Given the description of an element on the screen output the (x, y) to click on. 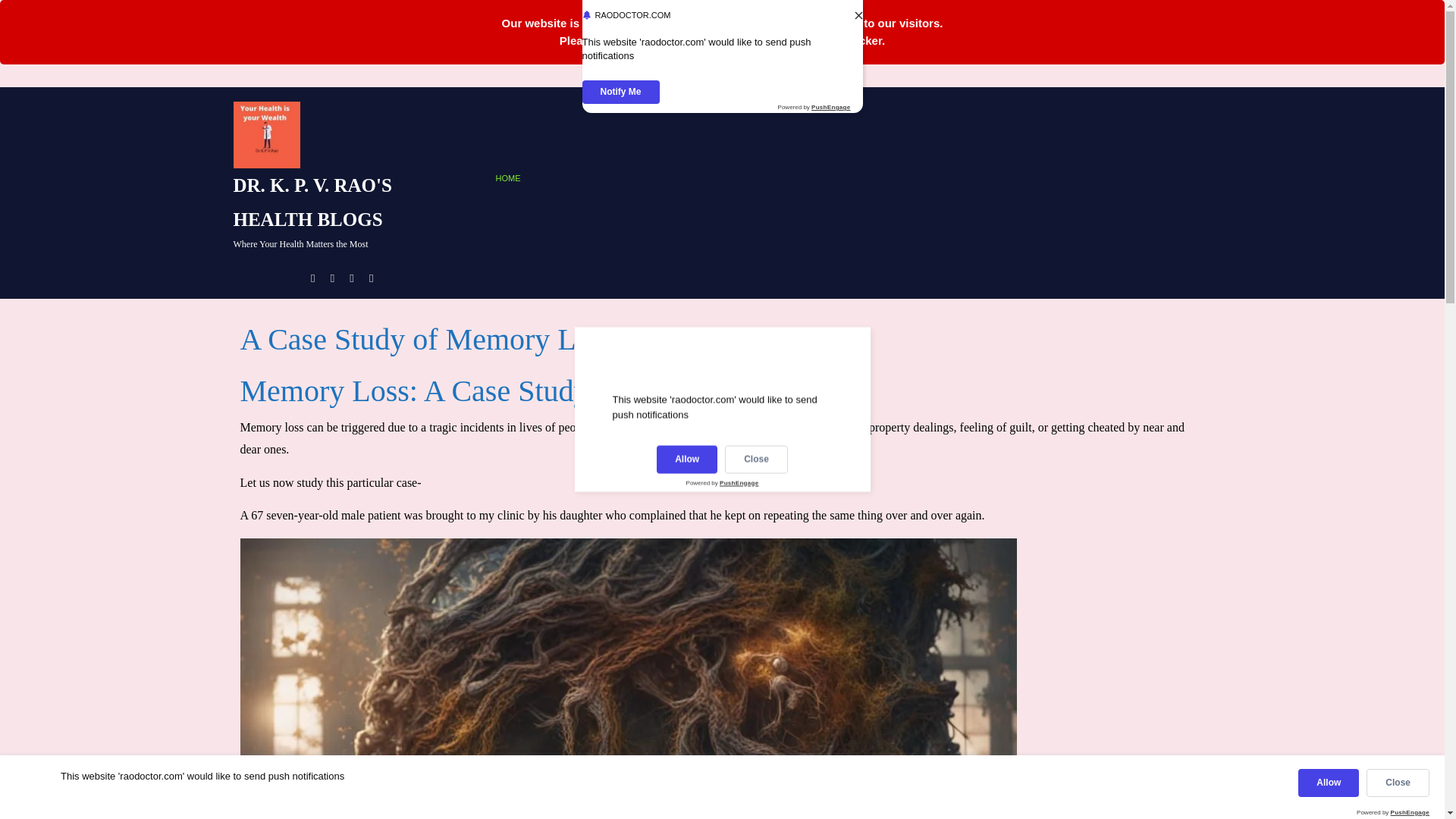
accident (708, 427)
HOME (510, 178)
DR. K. P. V. RAO'S HEALTH BLOGS (311, 202)
